Given the description of an element on the screen output the (x, y) to click on. 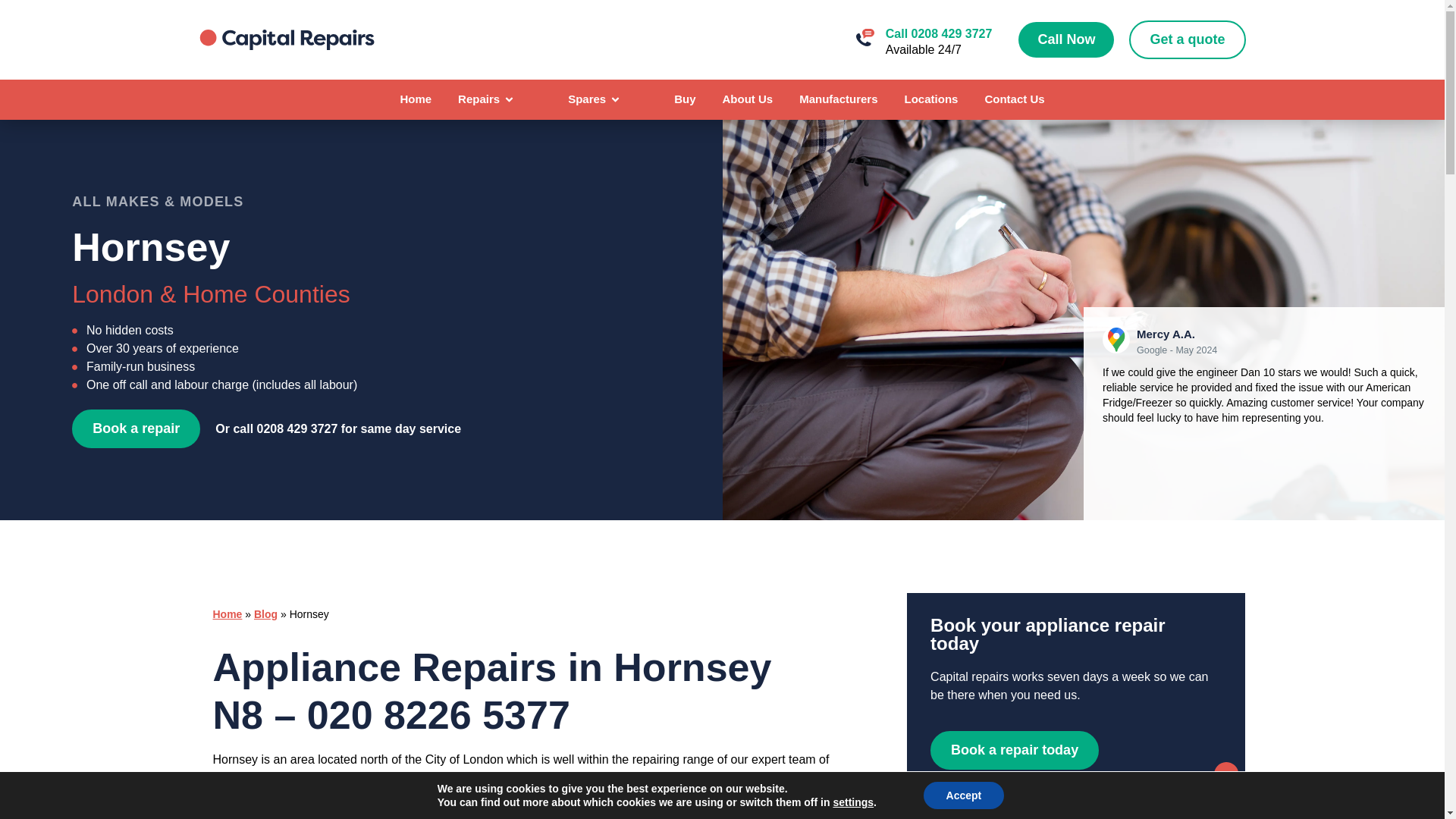
Get a quote (1186, 39)
Call 0208 429 3727 (938, 33)
Call Now (1065, 39)
